Given the description of an element on the screen output the (x, y) to click on. 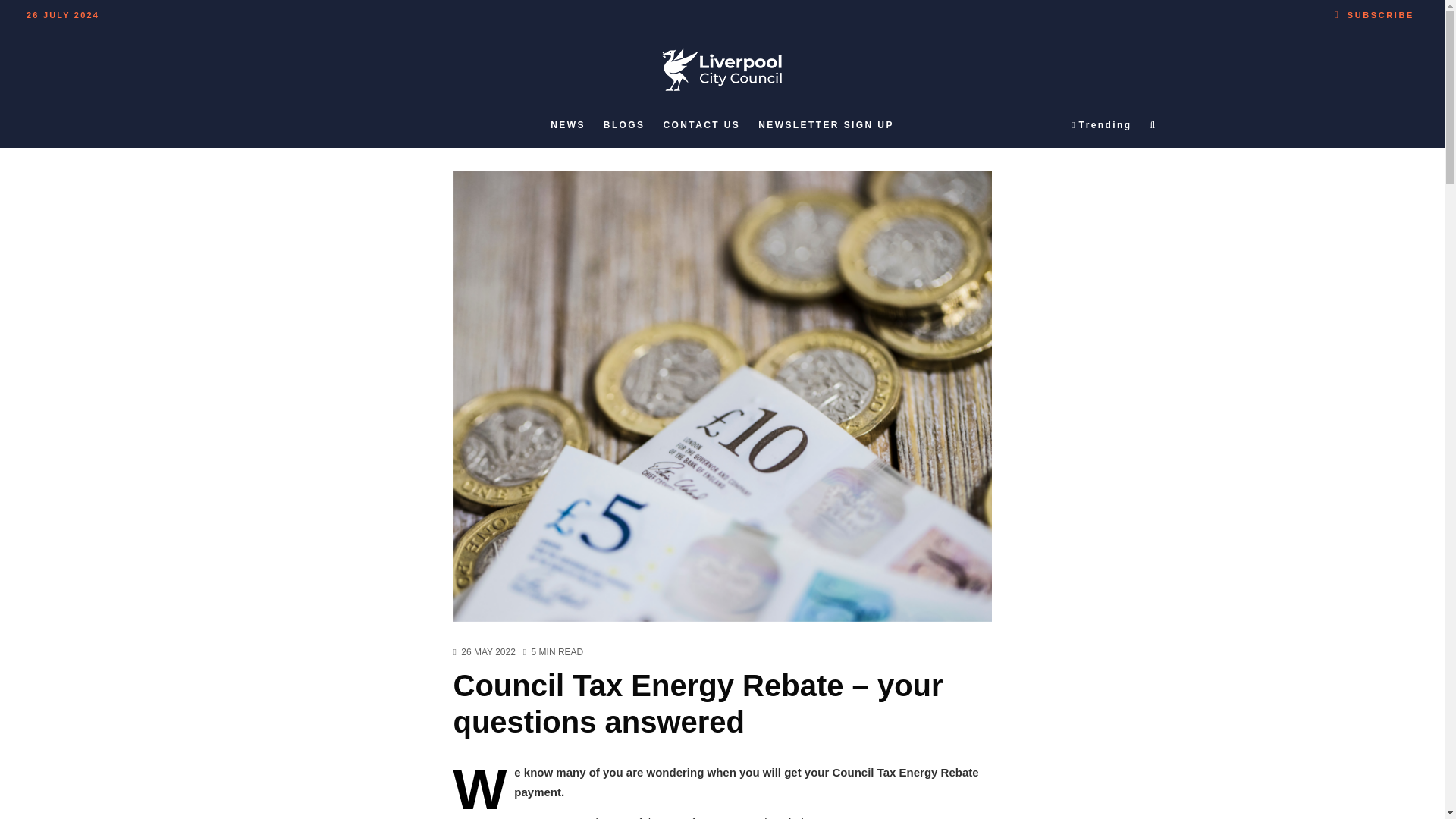
NEWS (567, 125)
BLOGS (623, 125)
SUBSCRIBE (1374, 11)
CONTACT US (701, 125)
NEWSLETTER SIGN UP (825, 125)
Trending (1101, 125)
